Given the description of an element on the screen output the (x, y) to click on. 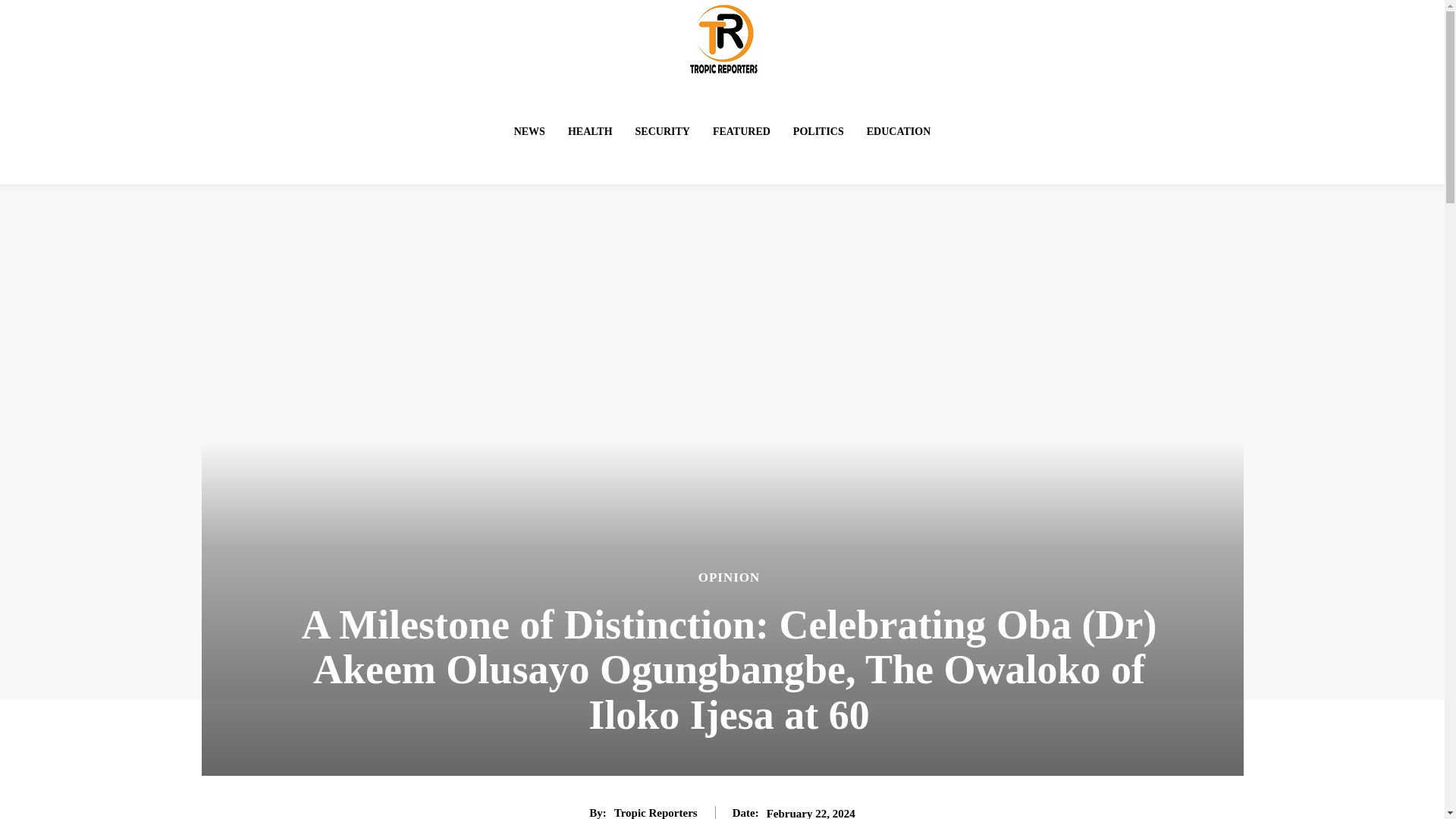
POLITICS (818, 132)
NEWS (529, 132)
SECURITY (662, 132)
EDUCATION (899, 132)
OPINION (729, 576)
FEATURED (740, 132)
HEALTH (590, 132)
Tropic Reporters (655, 812)
